Given the description of an element on the screen output the (x, y) to click on. 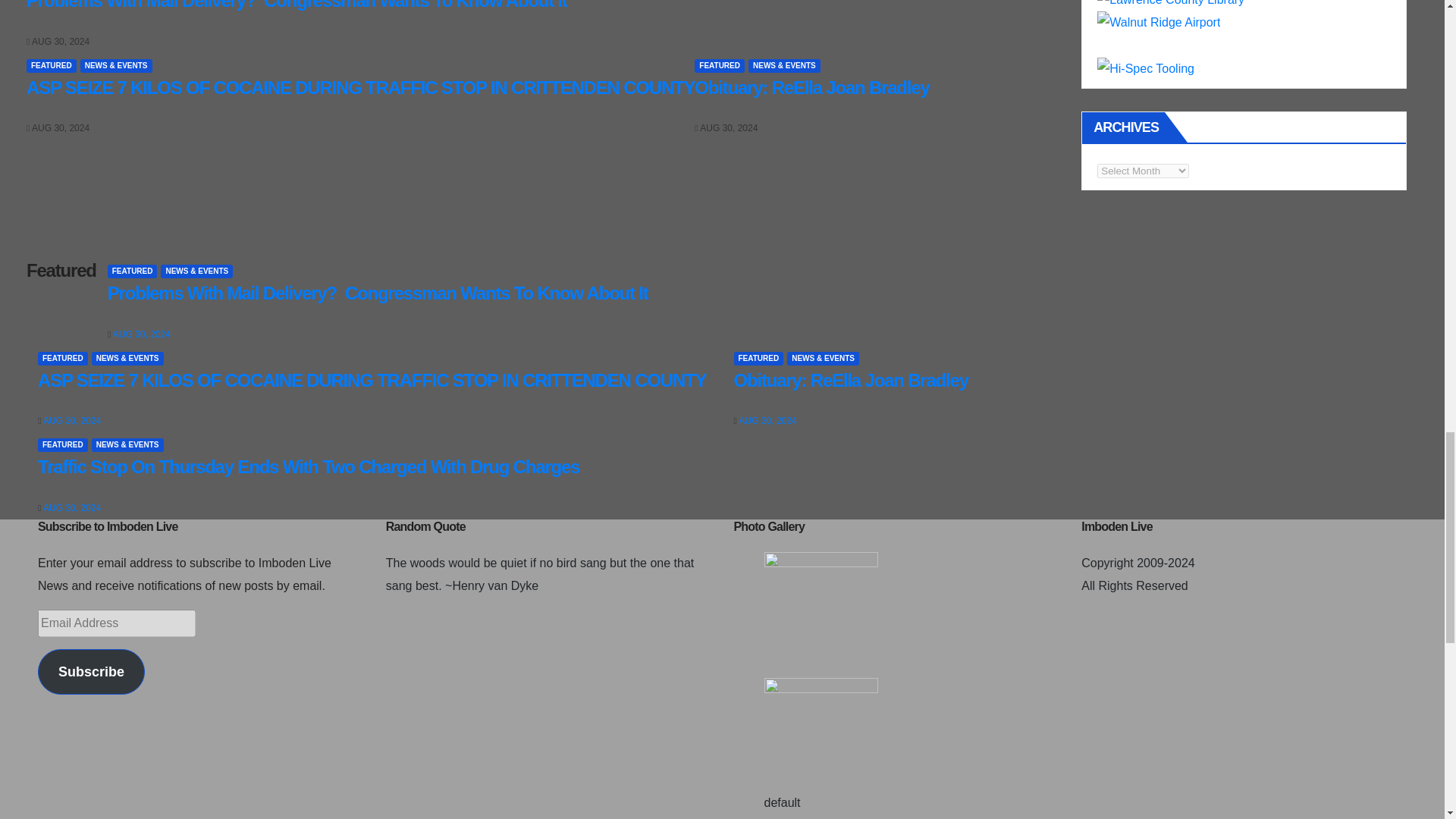
Permalink to: Obituary: ReElla Joan Bradley (811, 86)
